Given the description of an element on the screen output the (x, y) to click on. 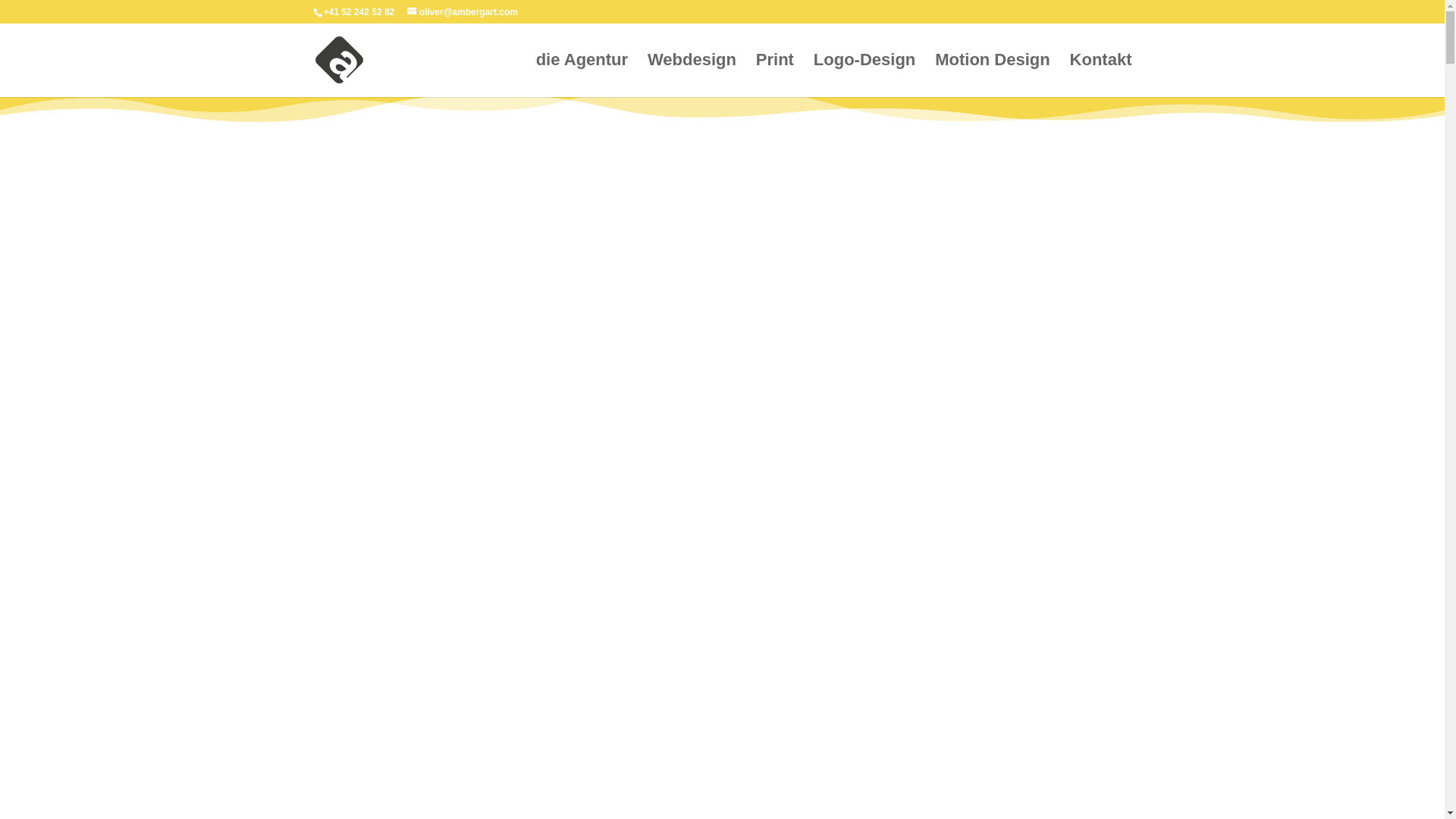
Motion Design Element type: text (992, 75)
Print Element type: text (774, 75)
oliver@ambergart.com Element type: text (462, 11)
die Agentur Element type: text (581, 75)
Logo-Design Element type: text (864, 75)
Webdesign Element type: text (691, 75)
Kontakt Element type: text (1101, 75)
